Given the description of an element on the screen output the (x, y) to click on. 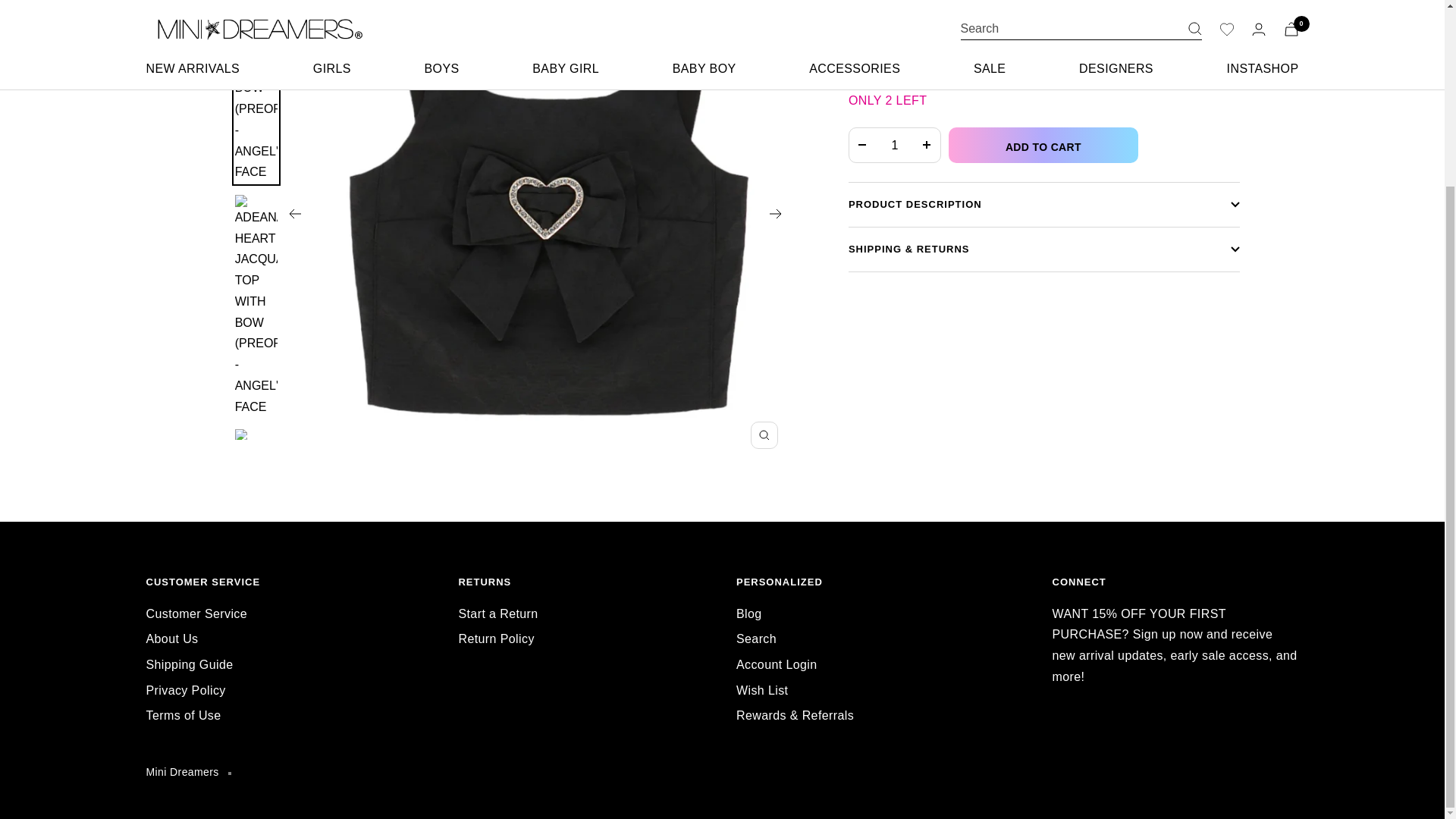
ADD TO CART (1043, 144)
1 (895, 144)
Decrease quantity (862, 144)
PRODUCT DESCRIPTION (1044, 204)
Increase quantity (927, 144)
